Given the description of an element on the screen output the (x, y) to click on. 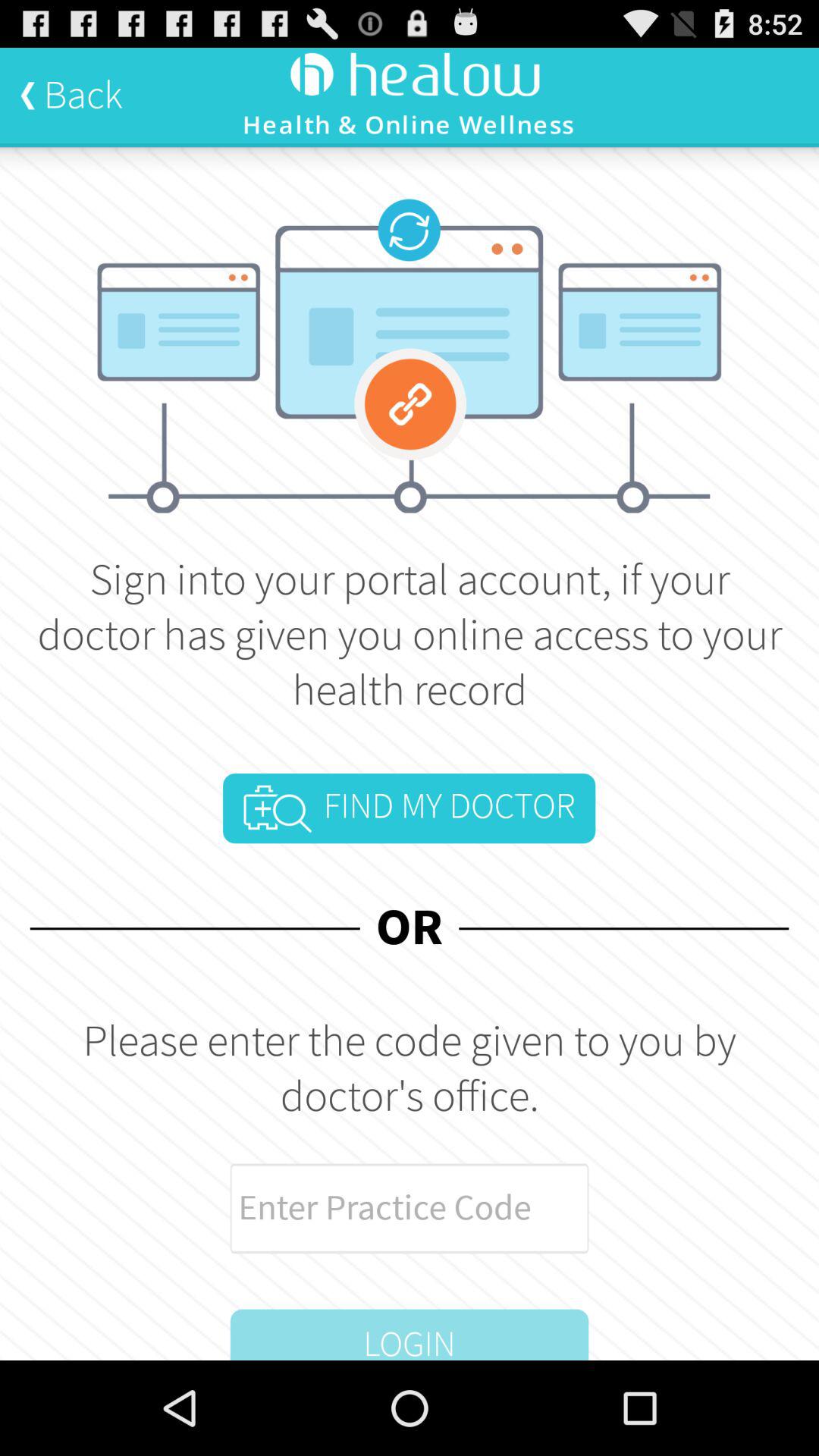
turn off icon above or icon (408, 808)
